Given the description of an element on the screen output the (x, y) to click on. 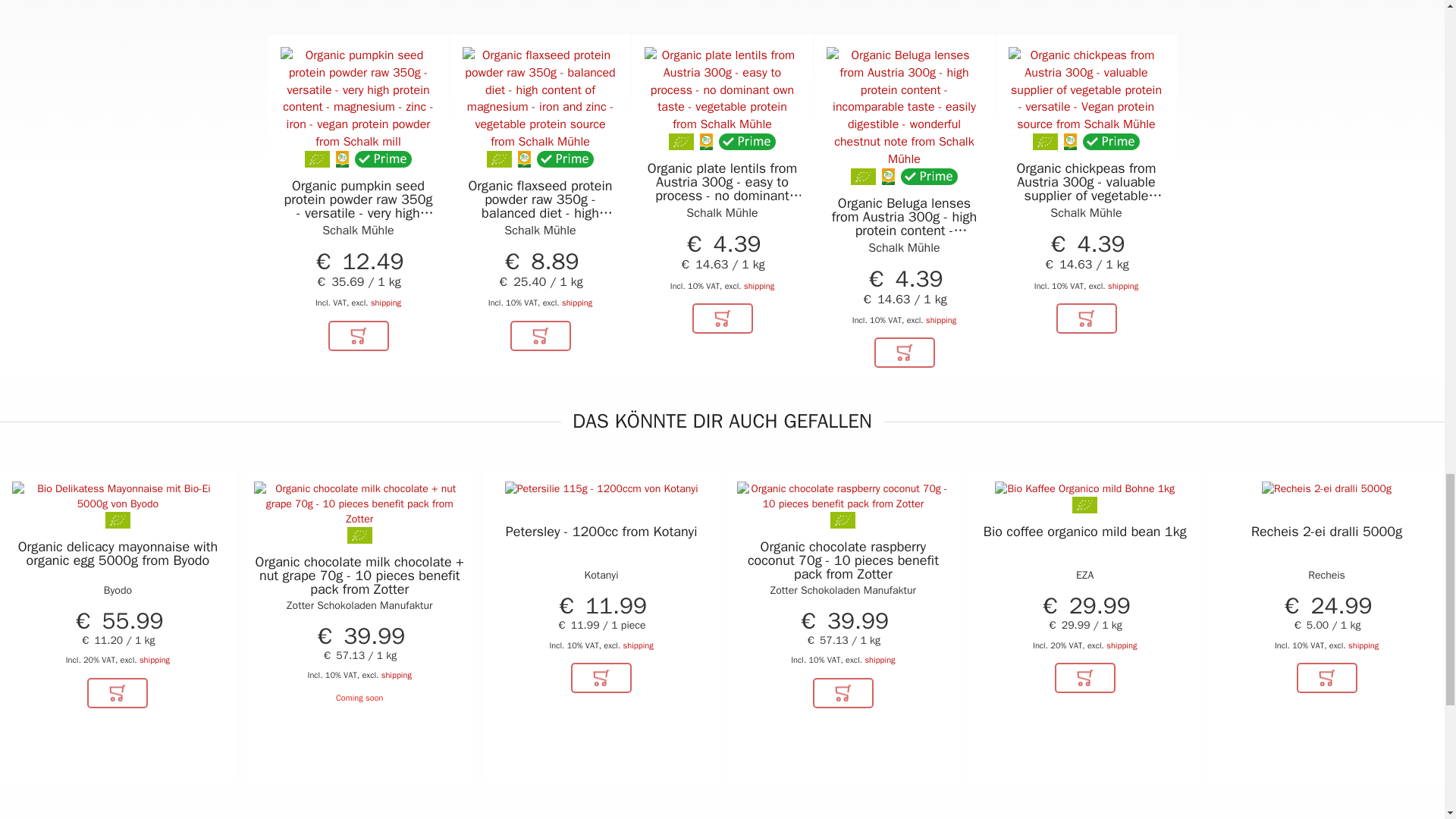
Add to Cart (1085, 318)
Add to Cart (117, 693)
Add to Cart (539, 336)
Add to Cart (721, 318)
Add to Cart (903, 352)
Add to Cart (357, 336)
